Given the description of an element on the screen output the (x, y) to click on. 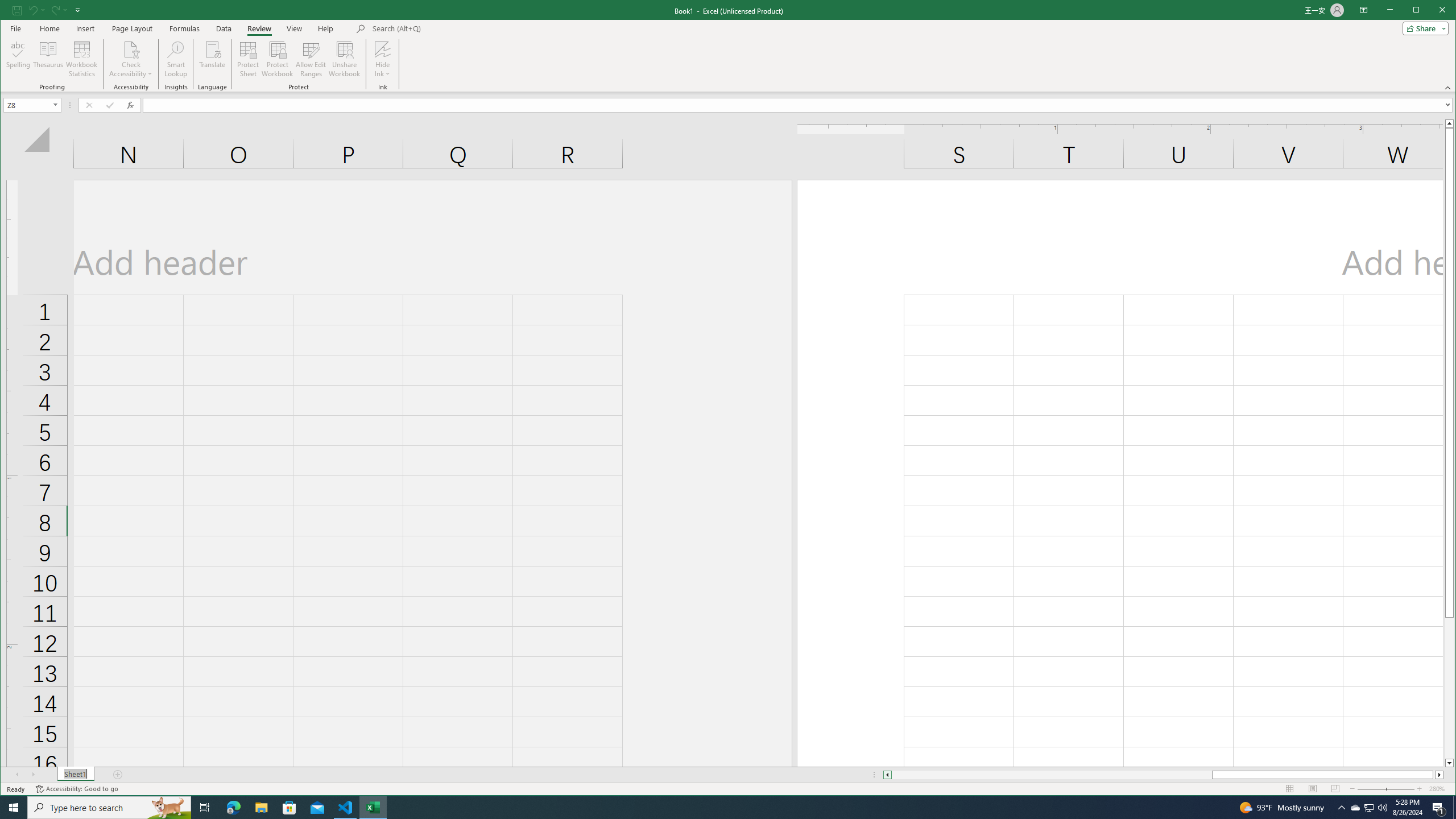
Notification Chevron (1341, 807)
Search highlights icon opens search home window (167, 807)
Protect Workbook... (277, 59)
Unshare Workbook (344, 59)
